Given the description of an element on the screen output the (x, y) to click on. 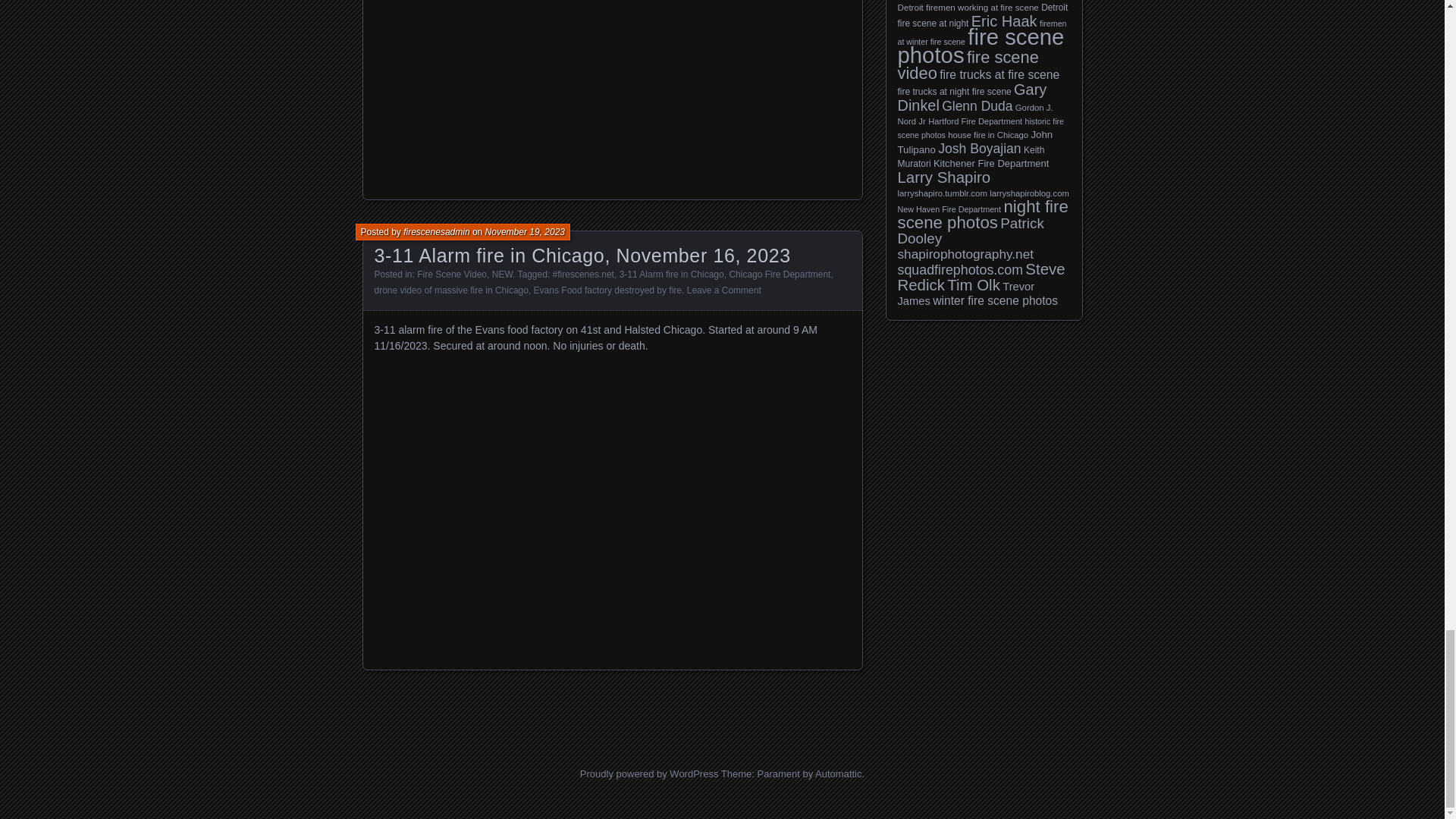
firescenesadmin (435, 231)
3-11 Alarm fire in Chicago, November 16, 2023 (582, 255)
November 19, 2023 (524, 231)
View all posts by firescenesadmin (435, 231)
